Given the description of an element on the screen output the (x, y) to click on. 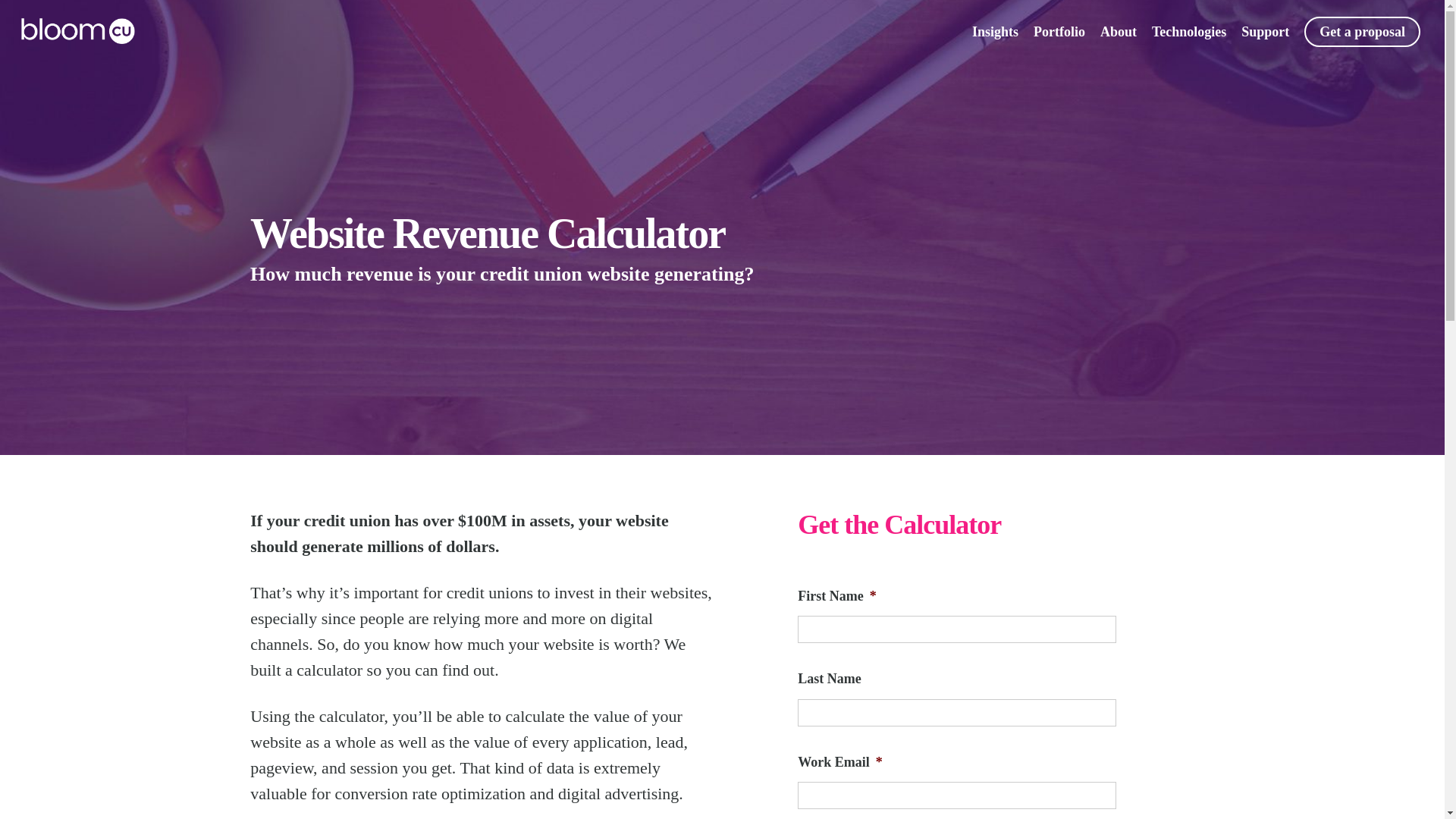
Support (1264, 30)
Technologies (1188, 30)
Insights (994, 30)
Portfolio (1058, 30)
About (1118, 30)
Get a proposal (1362, 30)
